Given the description of an element on the screen output the (x, y) to click on. 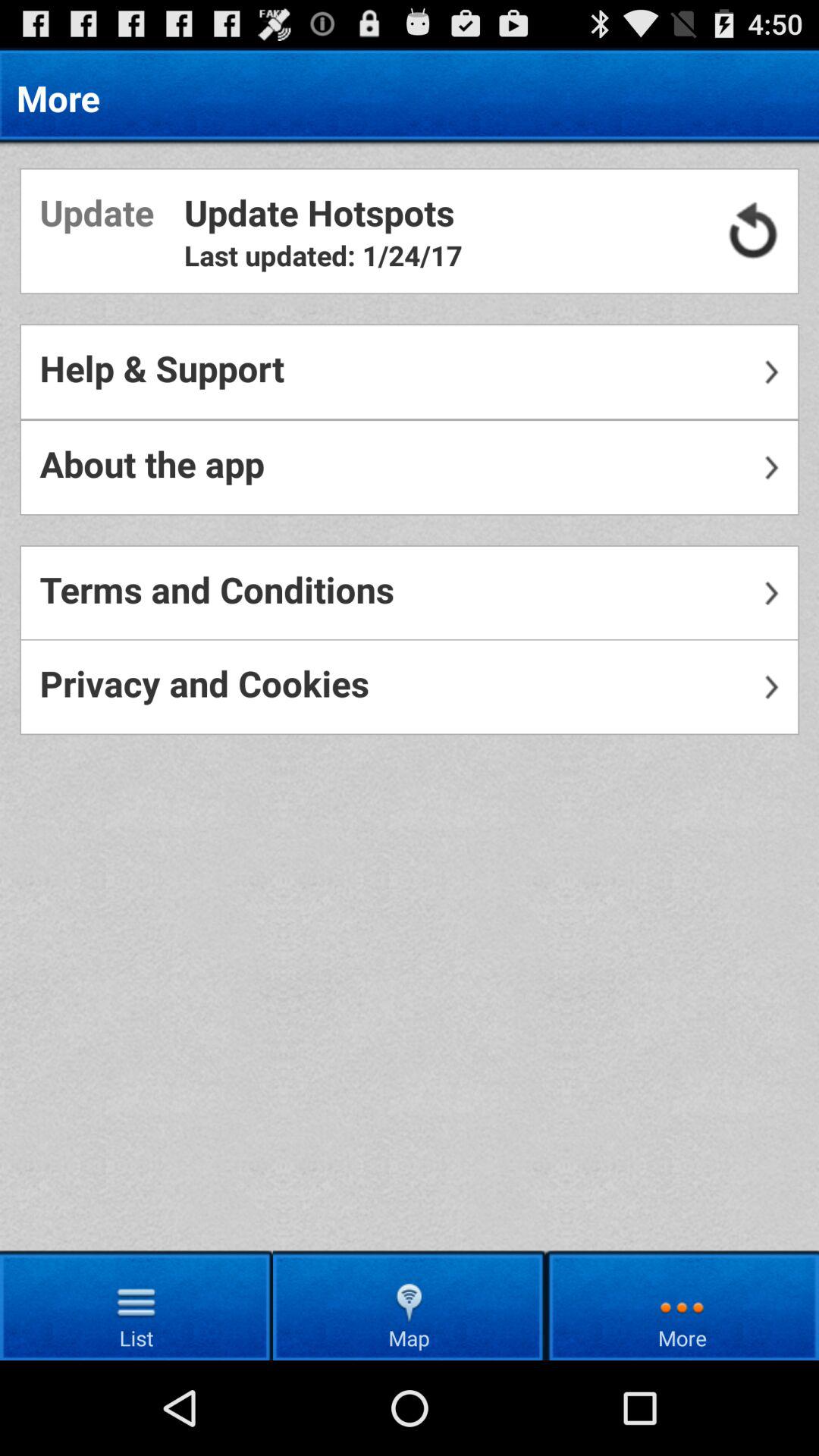
launch icon below the about the app (409, 592)
